Given the description of an element on the screen output the (x, y) to click on. 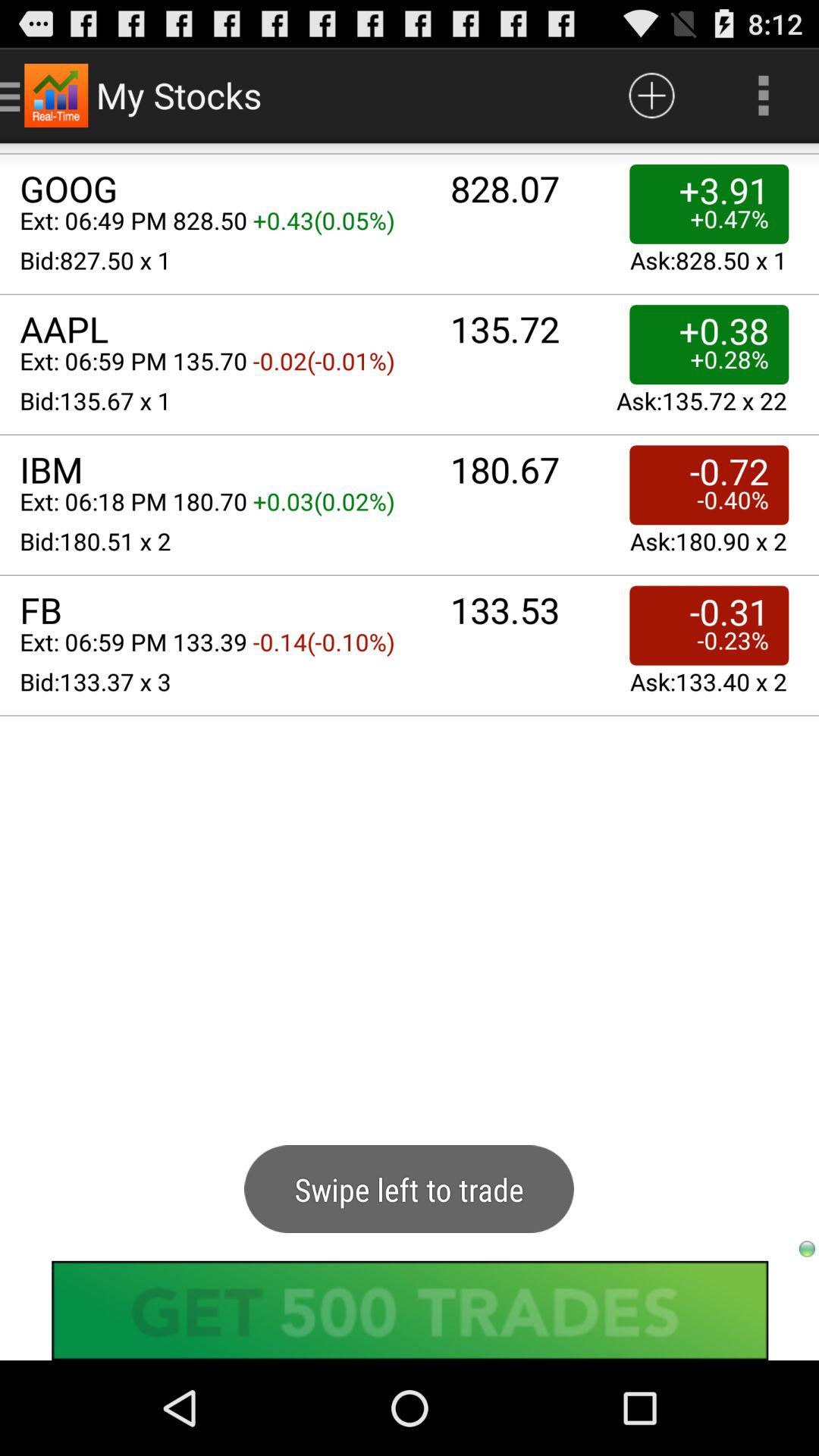
click advertisement (409, 1310)
